Given the description of an element on the screen output the (x, y) to click on. 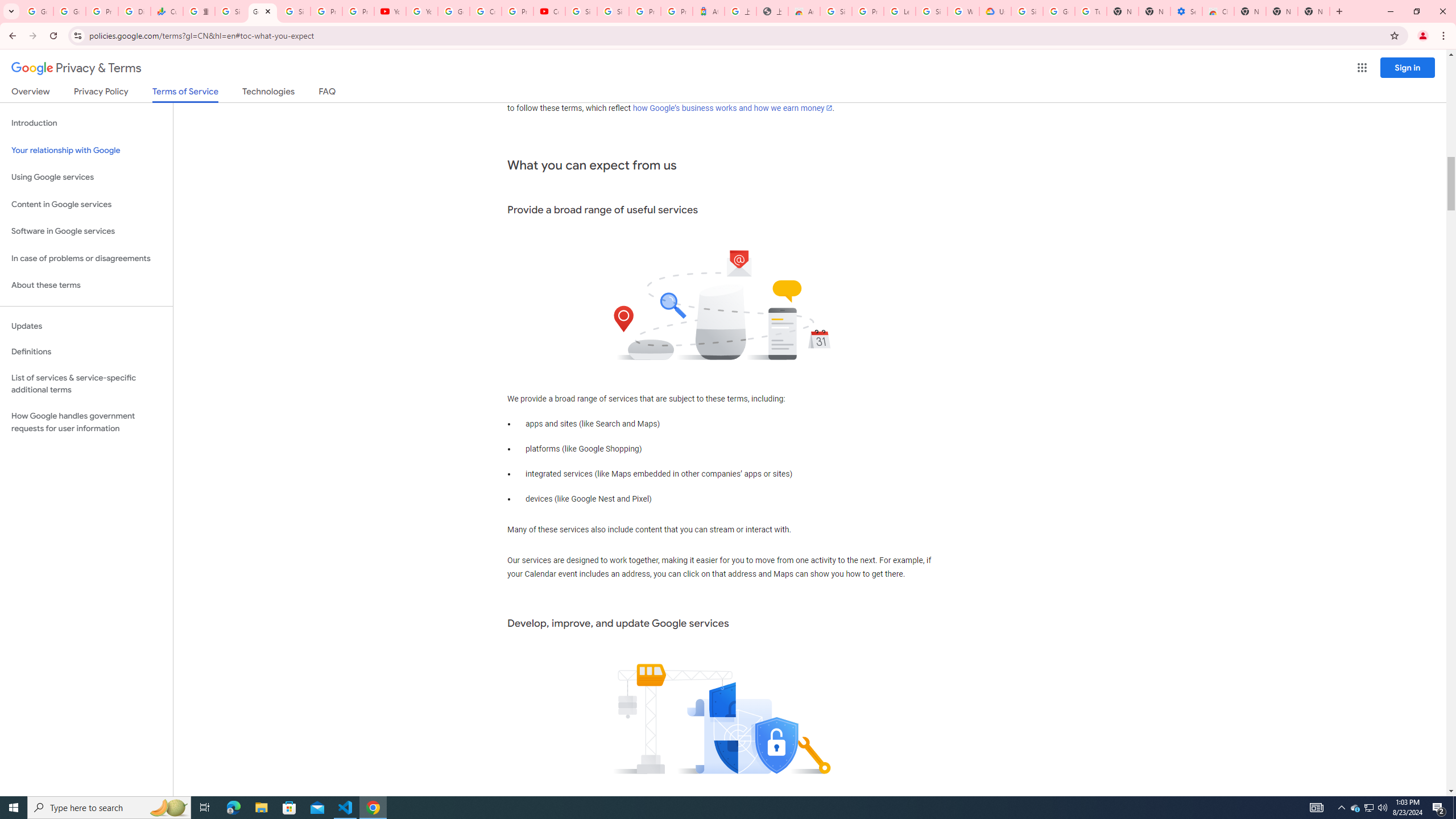
You (1422, 35)
Overview (30, 93)
Terms of Service (184, 94)
System (6, 6)
Google apps (1362, 67)
Definitions (86, 352)
Chrome Web Store - Accessibility extensions (1217, 11)
affiliates (611, 94)
Sign in (1407, 67)
Search tabs (10, 11)
Google Account Help (1059, 11)
